Given the description of an element on the screen output the (x, y) to click on. 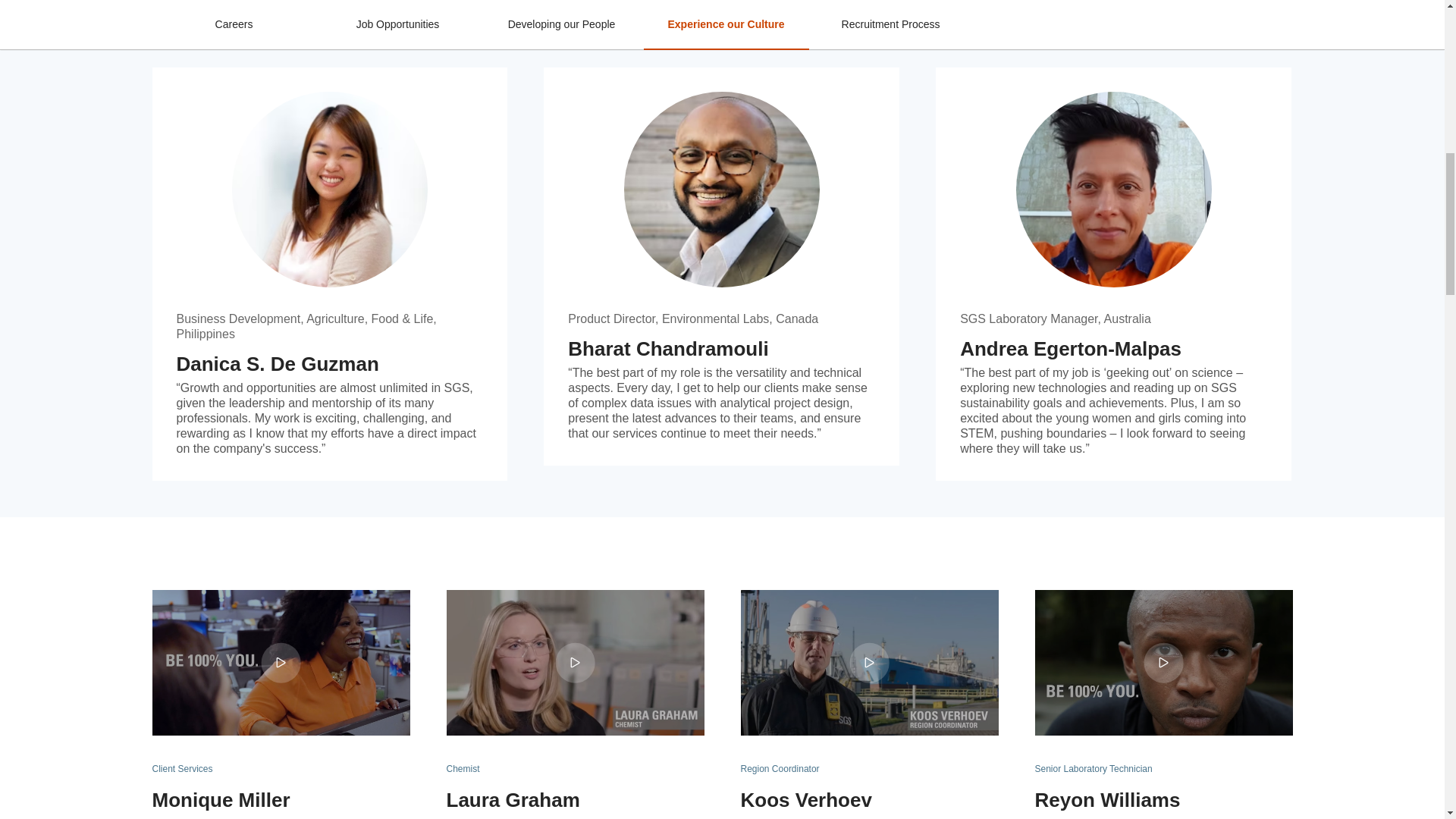
Play (280, 662)
Reyon Williams (1162, 662)
Play (574, 662)
Play (1163, 662)
Play (869, 662)
